Given the description of an element on the screen output the (x, y) to click on. 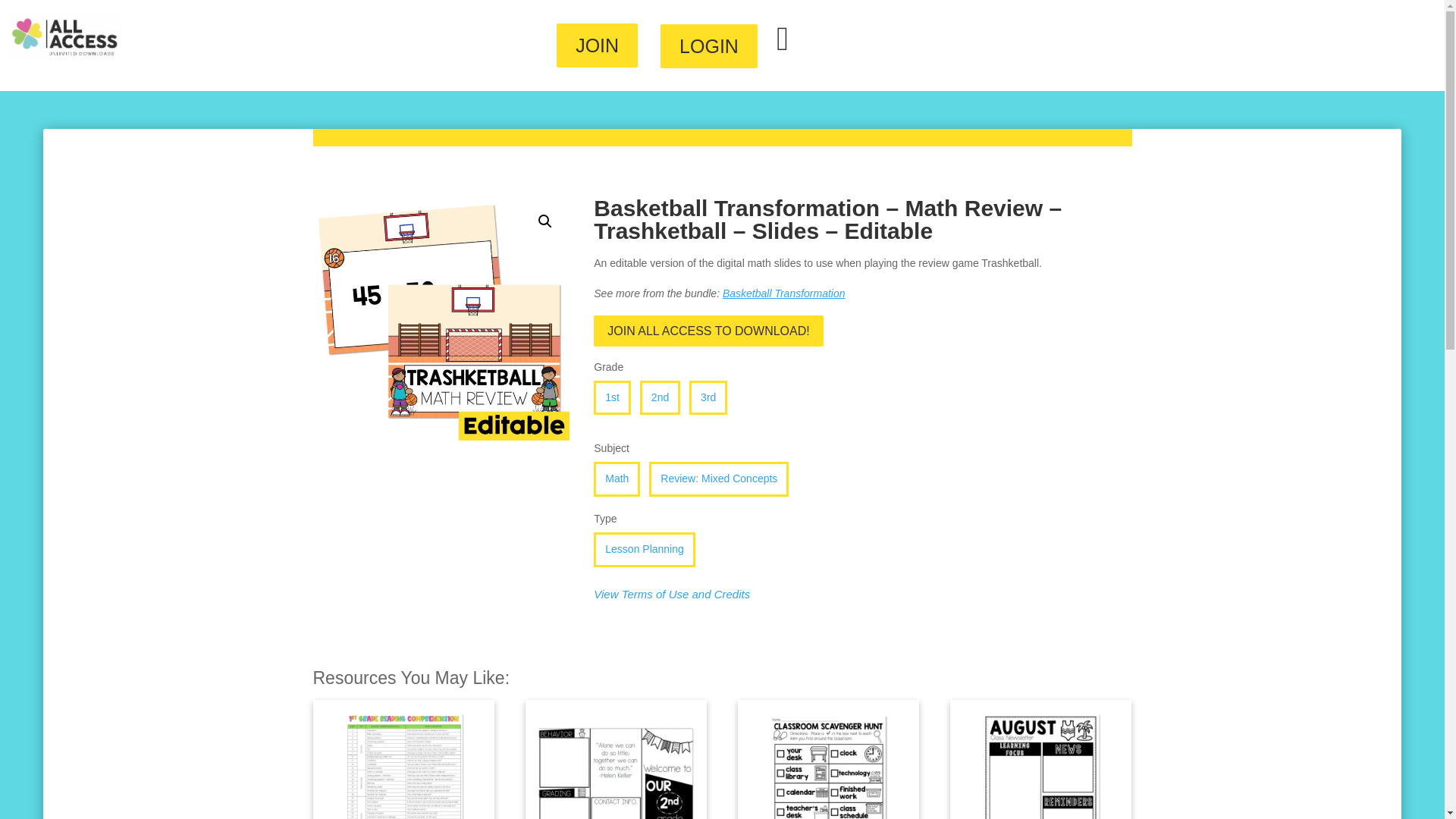
all access membership library logo (63, 34)
Basketball Transformation (783, 293)
LOGIN (709, 45)
JOIN (596, 45)
